Given the description of an element on the screen output the (x, y) to click on. 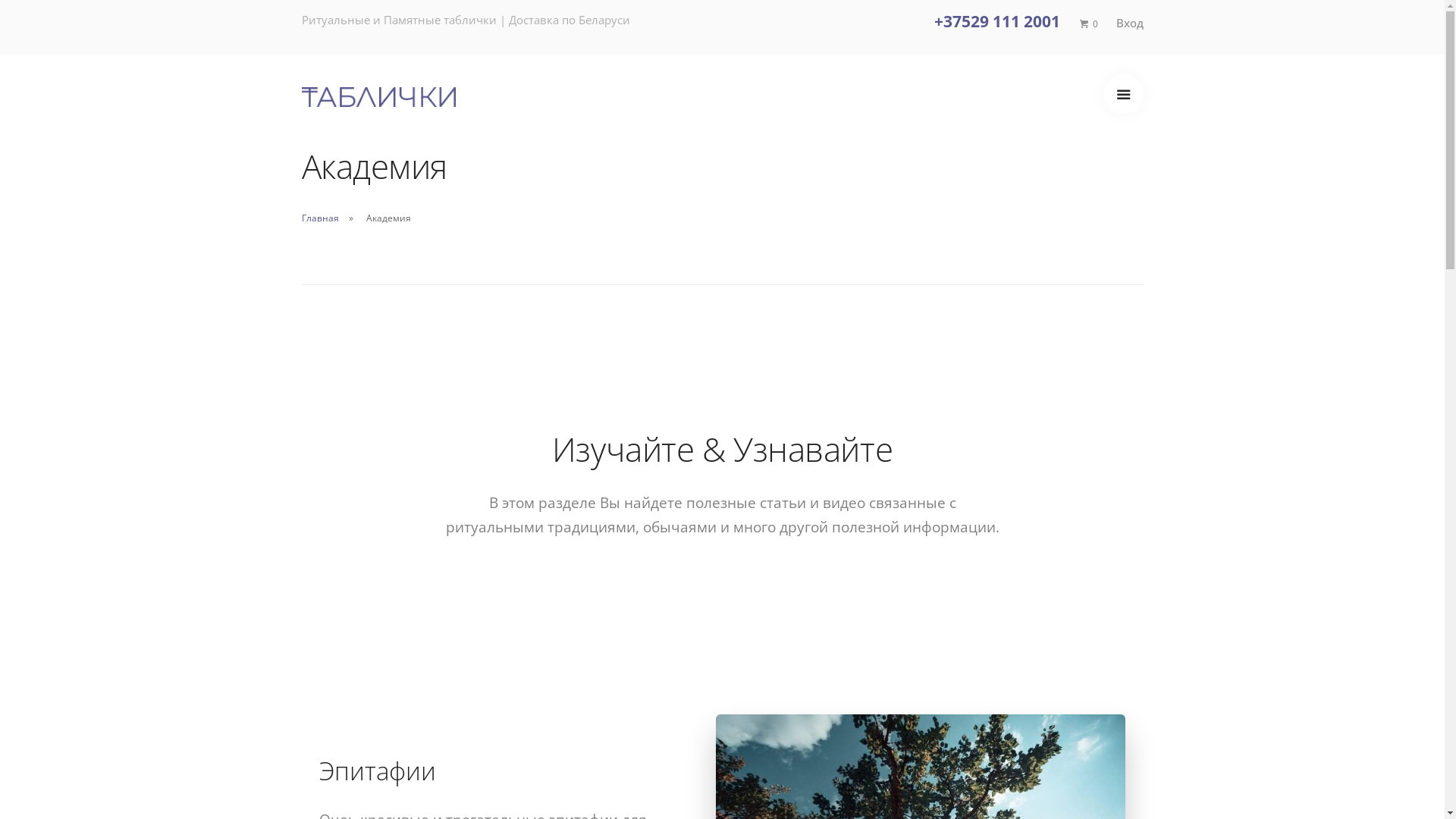
+37529 111 2001 Element type: text (997, 20)
0 Element type: text (1087, 24)
